Given the description of an element on the screen output the (x, y) to click on. 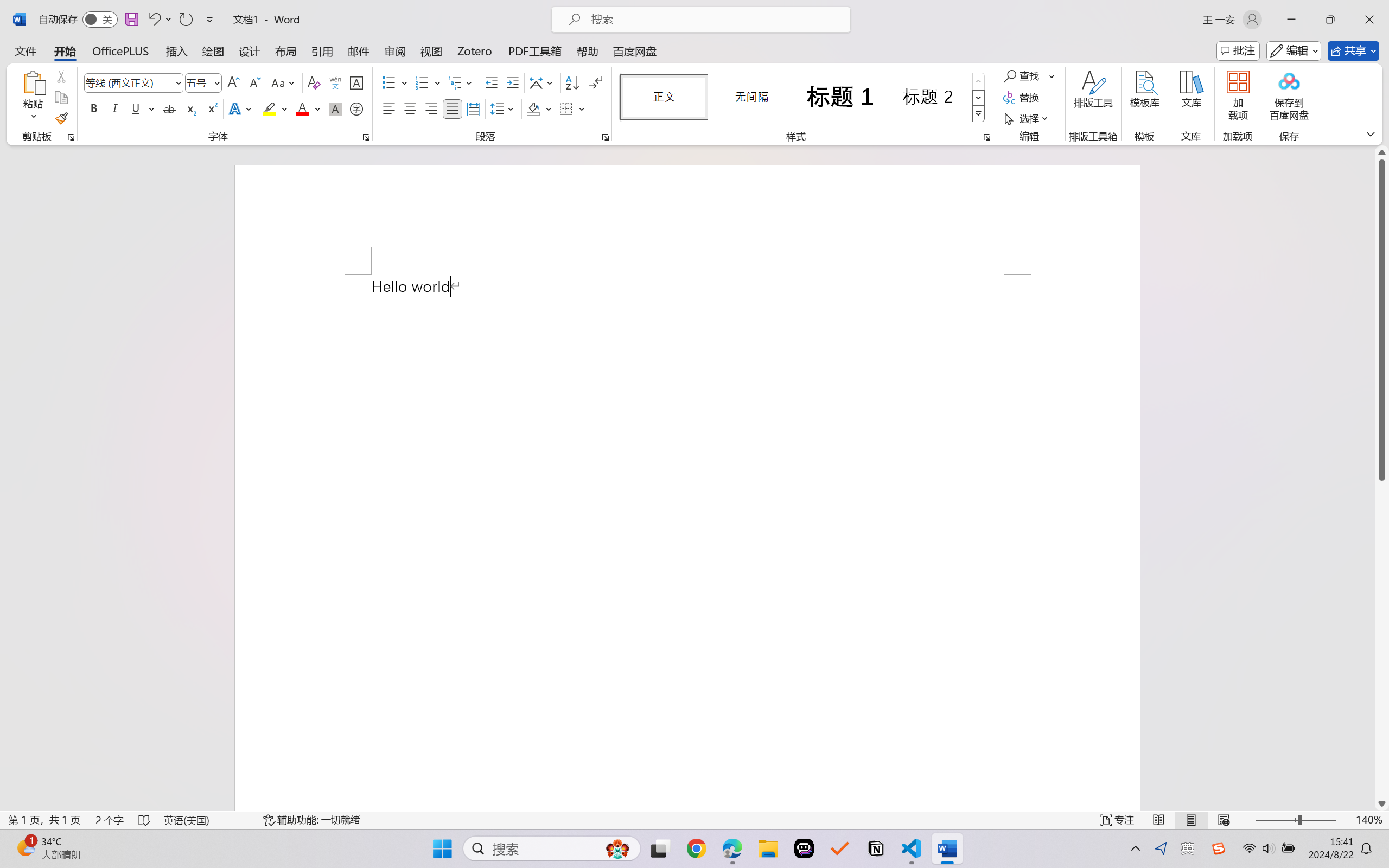
AutomationID: BadgeAnchorLargeTicker (24, 847)
